Given the description of an element on the screen output the (x, y) to click on. 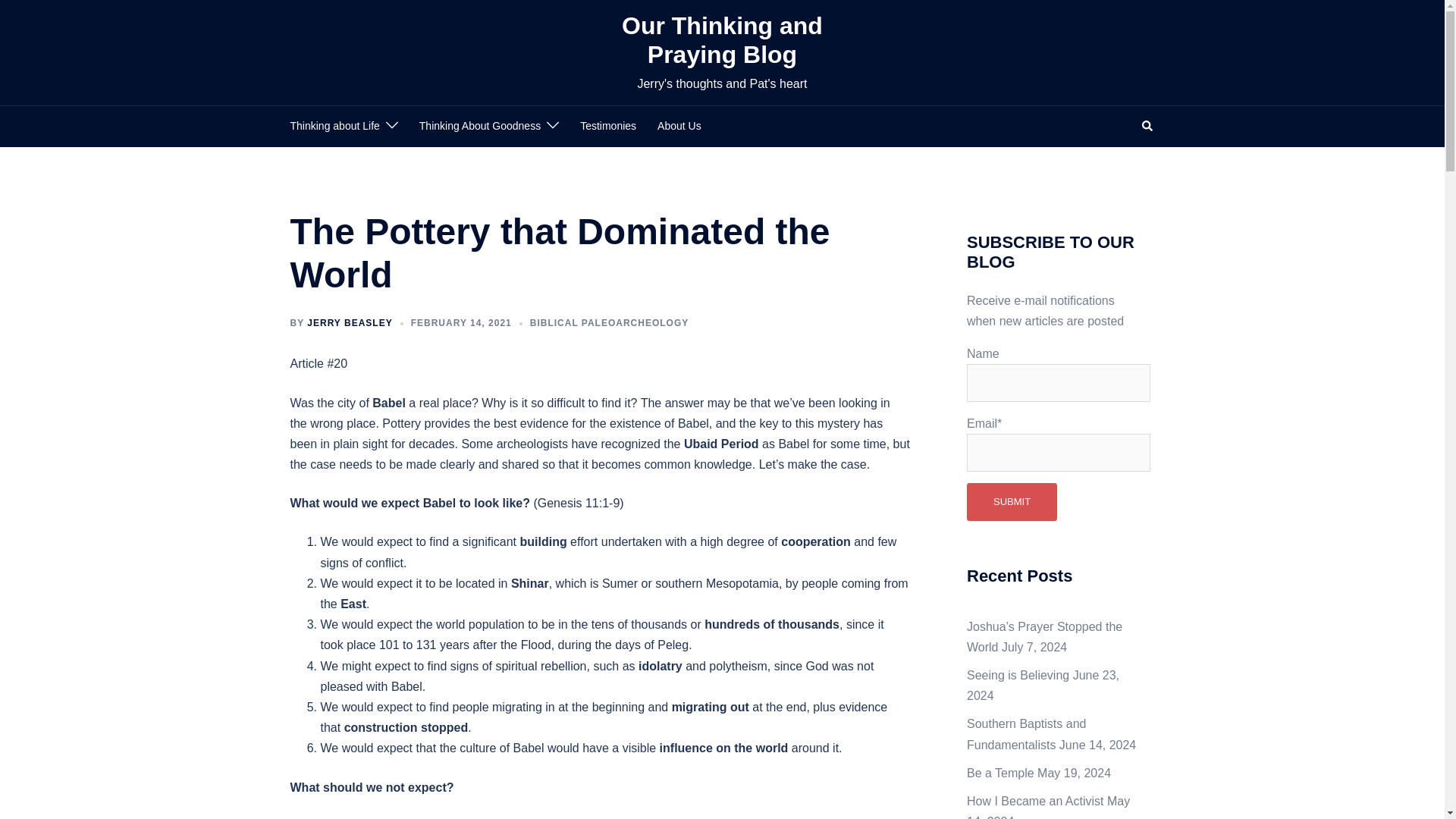
BIBLICAL PALEOARCHEOLOGY (608, 322)
Thinking about Life (333, 126)
Testimonies (607, 126)
Thinking About Goodness (479, 126)
Search (1147, 126)
Submit (1011, 501)
JERRY BEASLEY (349, 322)
Submit (1011, 501)
FEBRUARY 14, 2021 (461, 322)
Our Thinking and Praying Blog (721, 39)
About Us (679, 126)
